Given the description of an element on the screen output the (x, y) to click on. 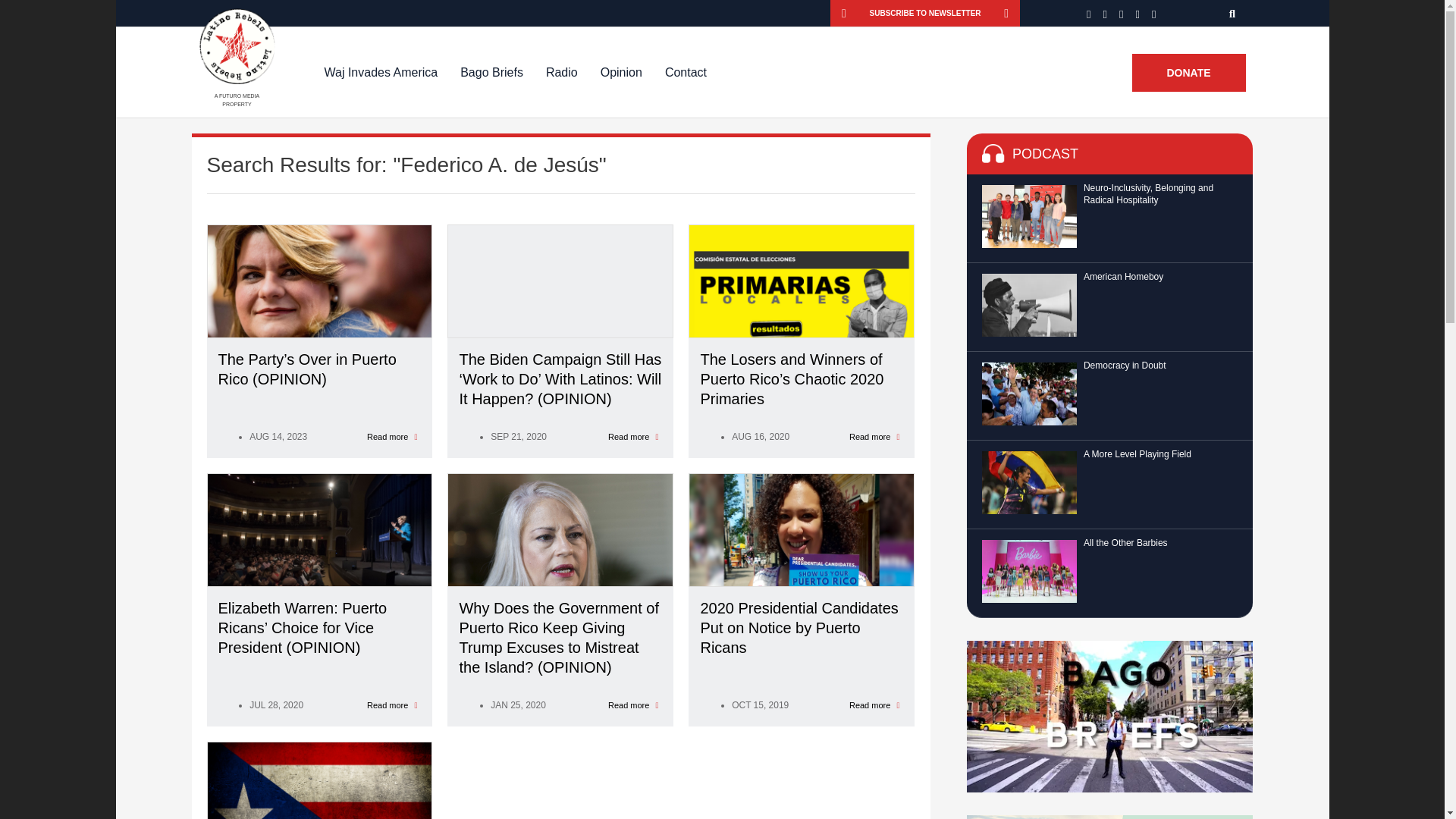
Read more (633, 705)
Read more (633, 436)
Read more (873, 705)
Contact (685, 72)
Waj Invades America (380, 72)
Search (1233, 13)
Search (1233, 13)
Read more (391, 705)
Contact (685, 72)
Read more (391, 436)
Opinion (621, 72)
Subscribe to newsletter (924, 13)
2020 Presidential Candidates Put on Notice by Puerto Ricans (801, 627)
Radio (561, 72)
Bago Briefs (491, 72)
